Given the description of an element on the screen output the (x, y) to click on. 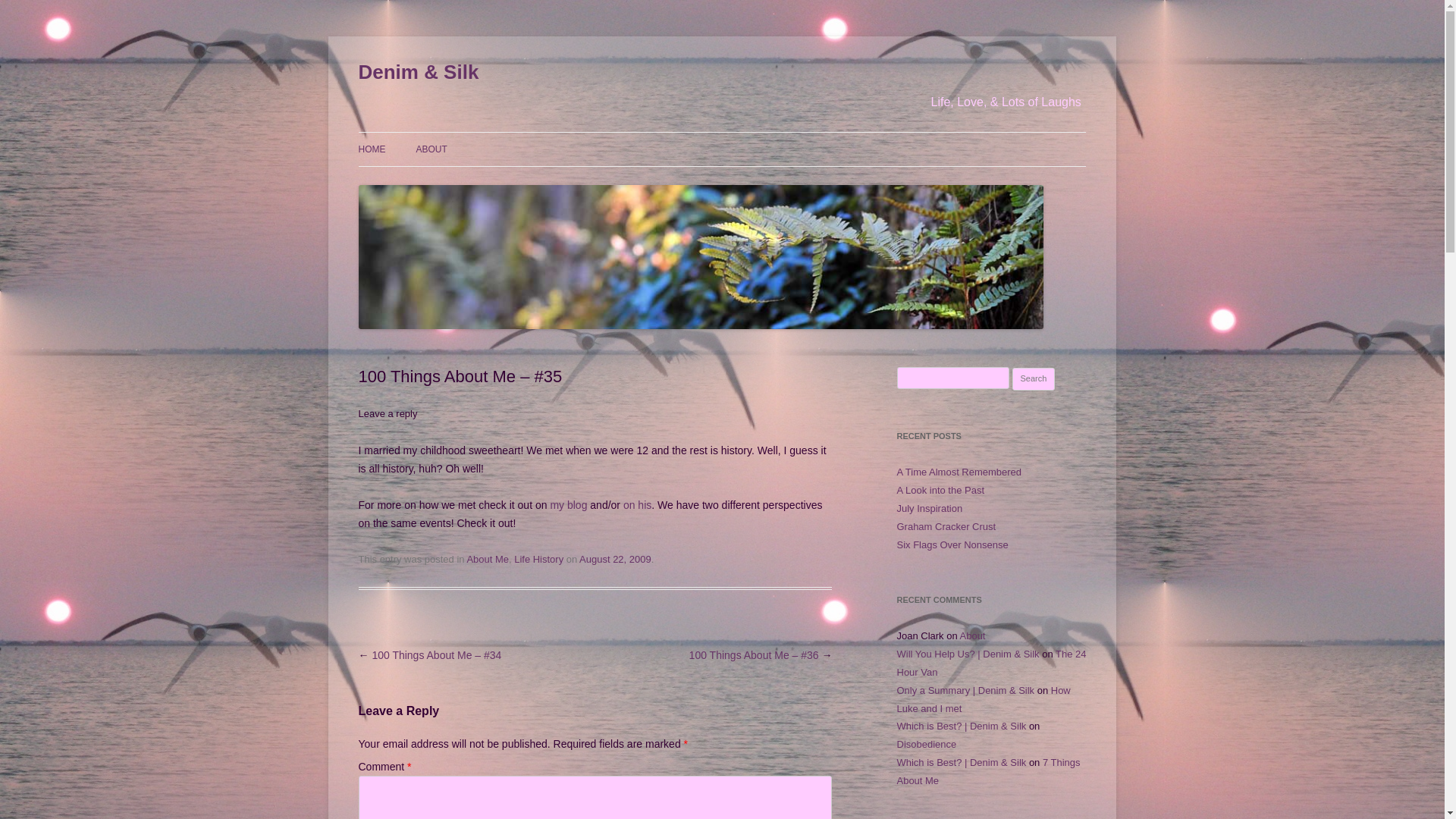
Leave a reply (387, 413)
The 24 Hour Van (991, 663)
Search (1033, 378)
August 22, 2009 (614, 559)
Disobedience (926, 744)
How Luke and I met (983, 699)
Six Flags Over Nonsense (951, 544)
ABOUT (430, 148)
7 Things About Me (988, 771)
10:20 pm (614, 559)
my blog (568, 504)
About (972, 635)
A Look into the Past (940, 490)
